Given the description of an element on the screen output the (x, y) to click on. 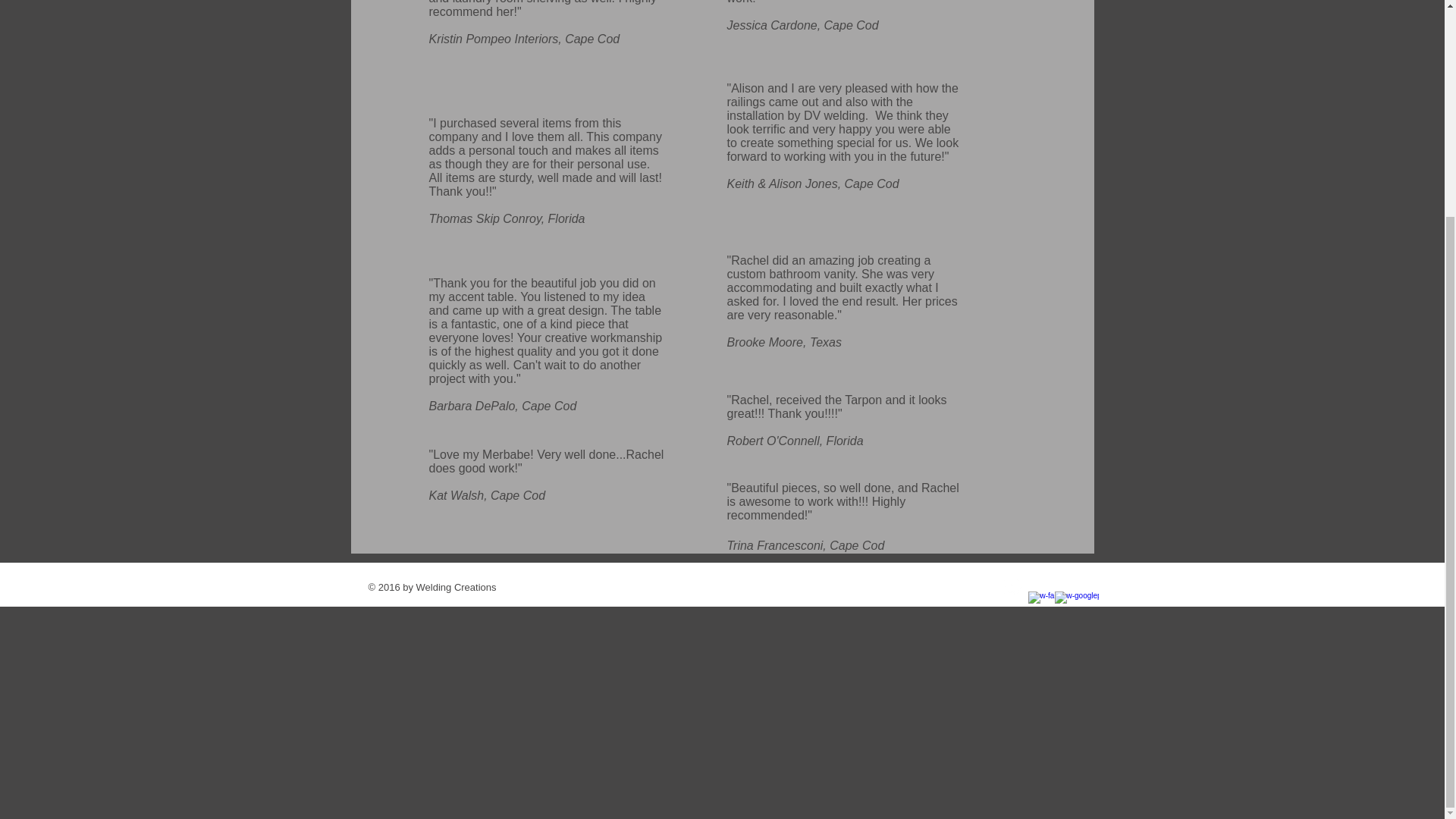
Kristin Pompeo Interiors, Cape Cod (524, 38)
